Given the description of an element on the screen output the (x, y) to click on. 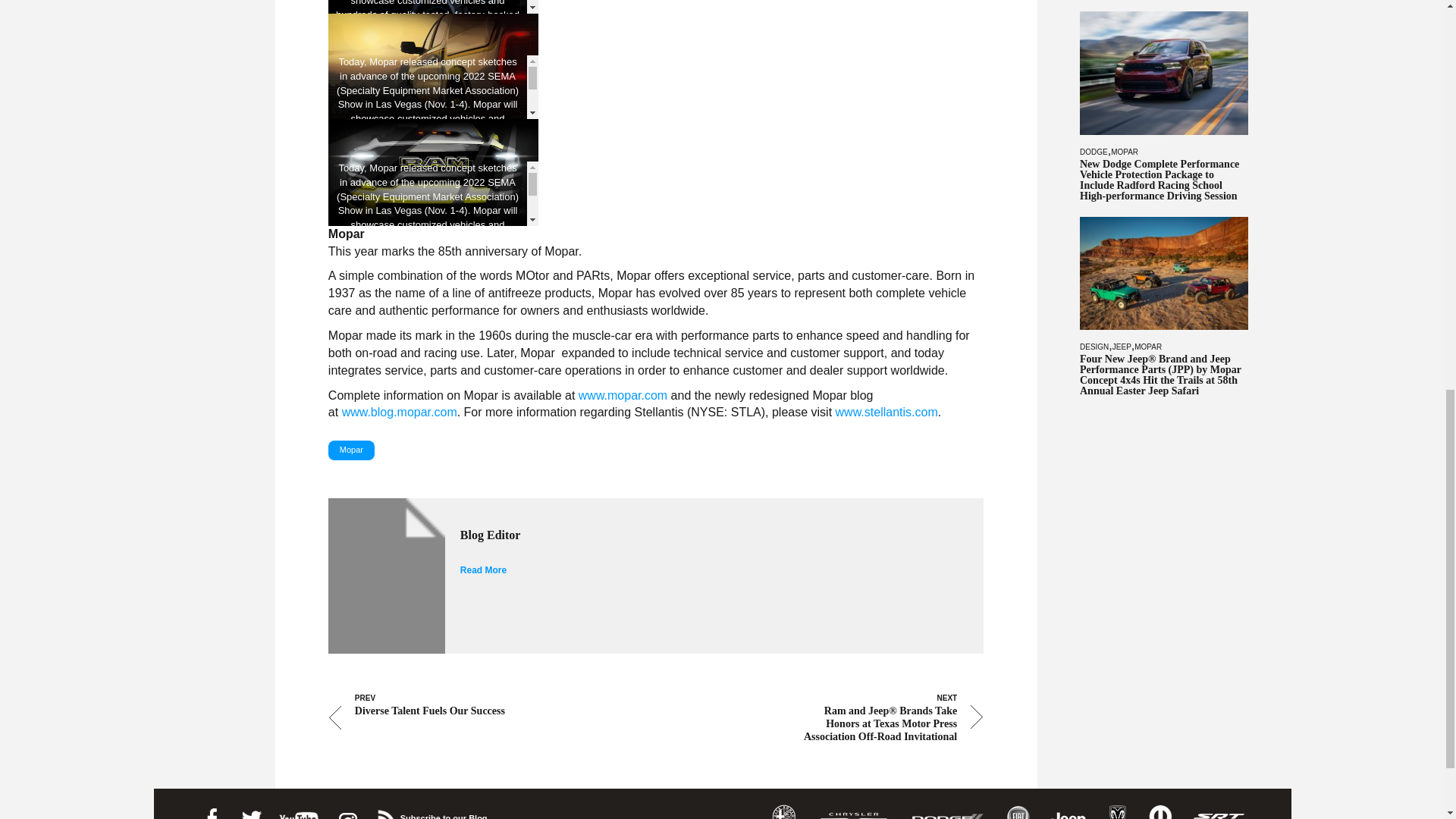
DODGE (1094, 151)
MOPAR (1124, 151)
DESIGN (1094, 347)
